Given the description of an element on the screen output the (x, y) to click on. 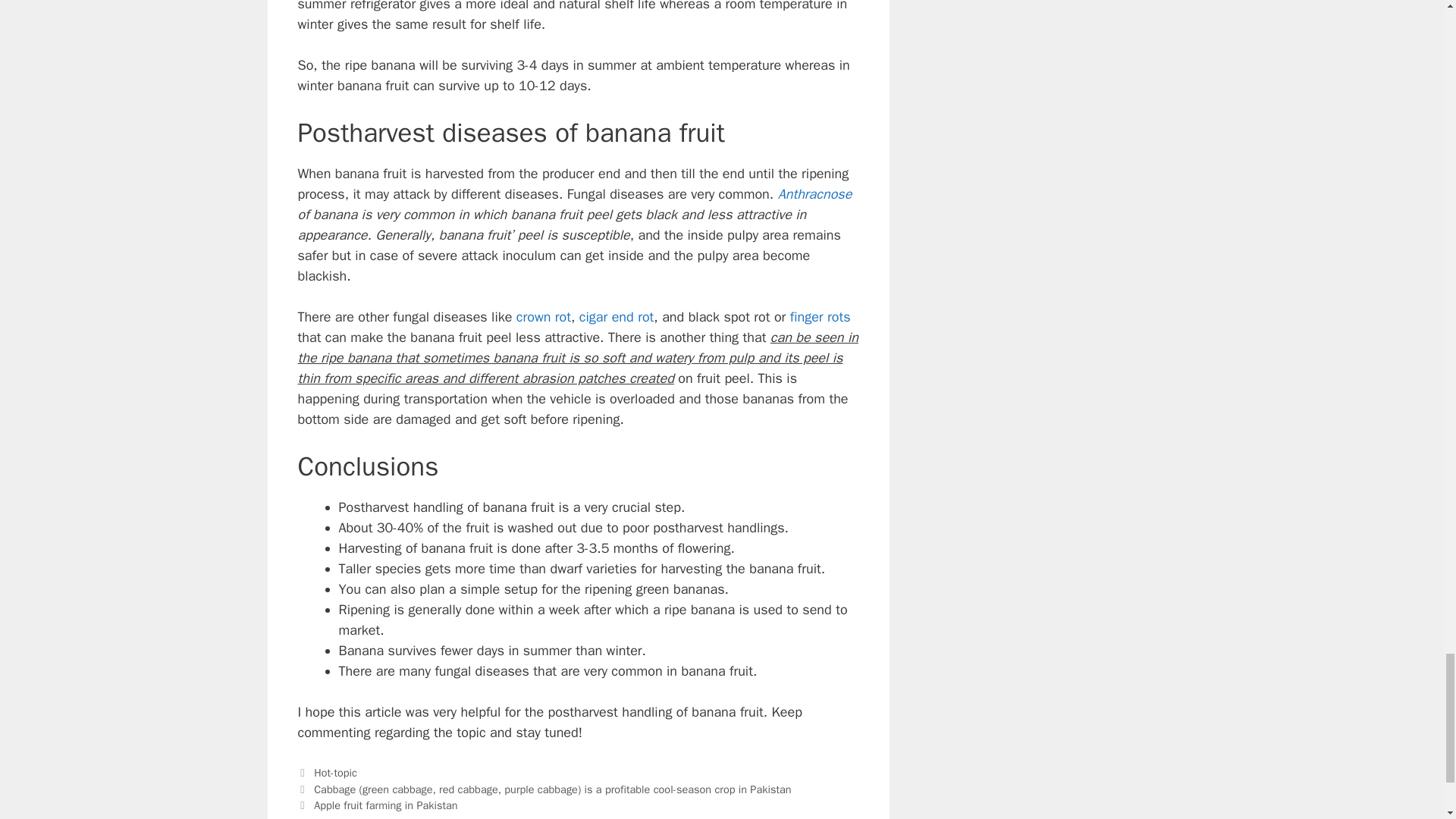
finger rots (820, 316)
Anthracnose (814, 193)
cigar end rot (616, 316)
crown rot (543, 316)
Hot-topic (335, 772)
Apple fruit farming in Pakistan (385, 805)
